Given the description of an element on the screen output the (x, y) to click on. 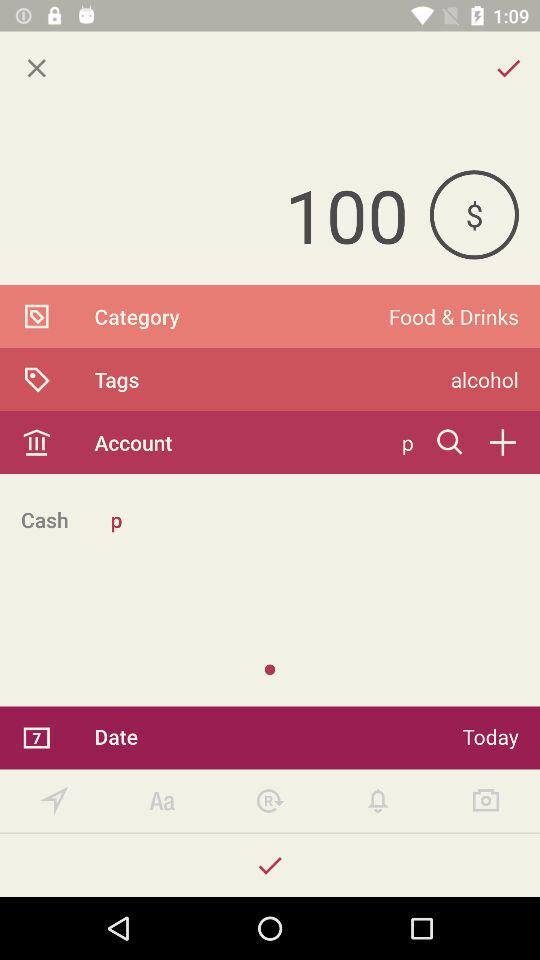
refresh button (270, 800)
